Given the description of an element on the screen output the (x, y) to click on. 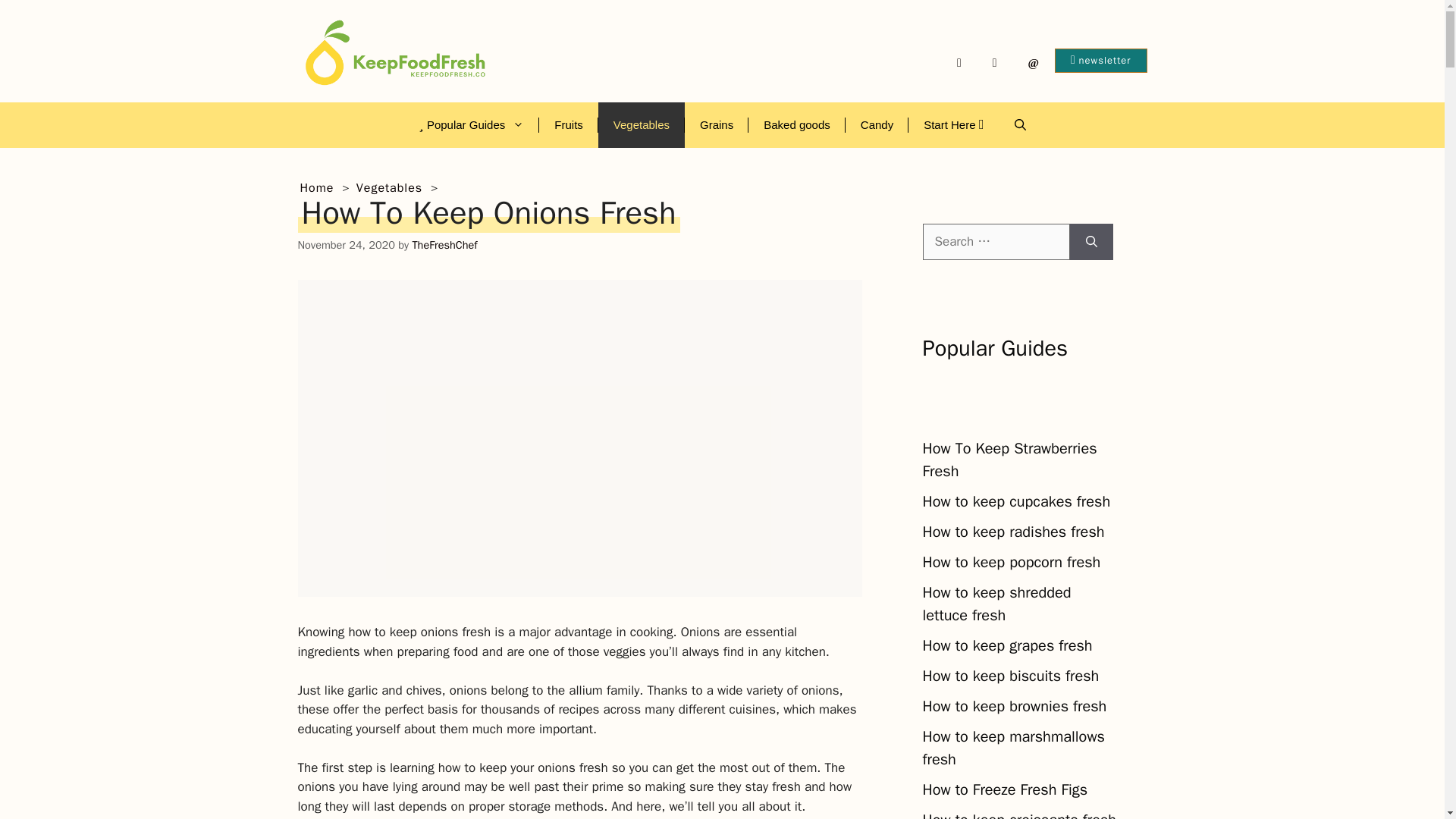
Instagram (994, 63)
TheFreshChef (444, 244)
contact us (1032, 63)
newsletter (1100, 60)
Vegetables (641, 125)
Search for: (994, 241)
Candy (876, 125)
Popular Guides (470, 125)
Baked goods (796, 125)
Vegetables (389, 187)
